Given the description of an element on the screen output the (x, y) to click on. 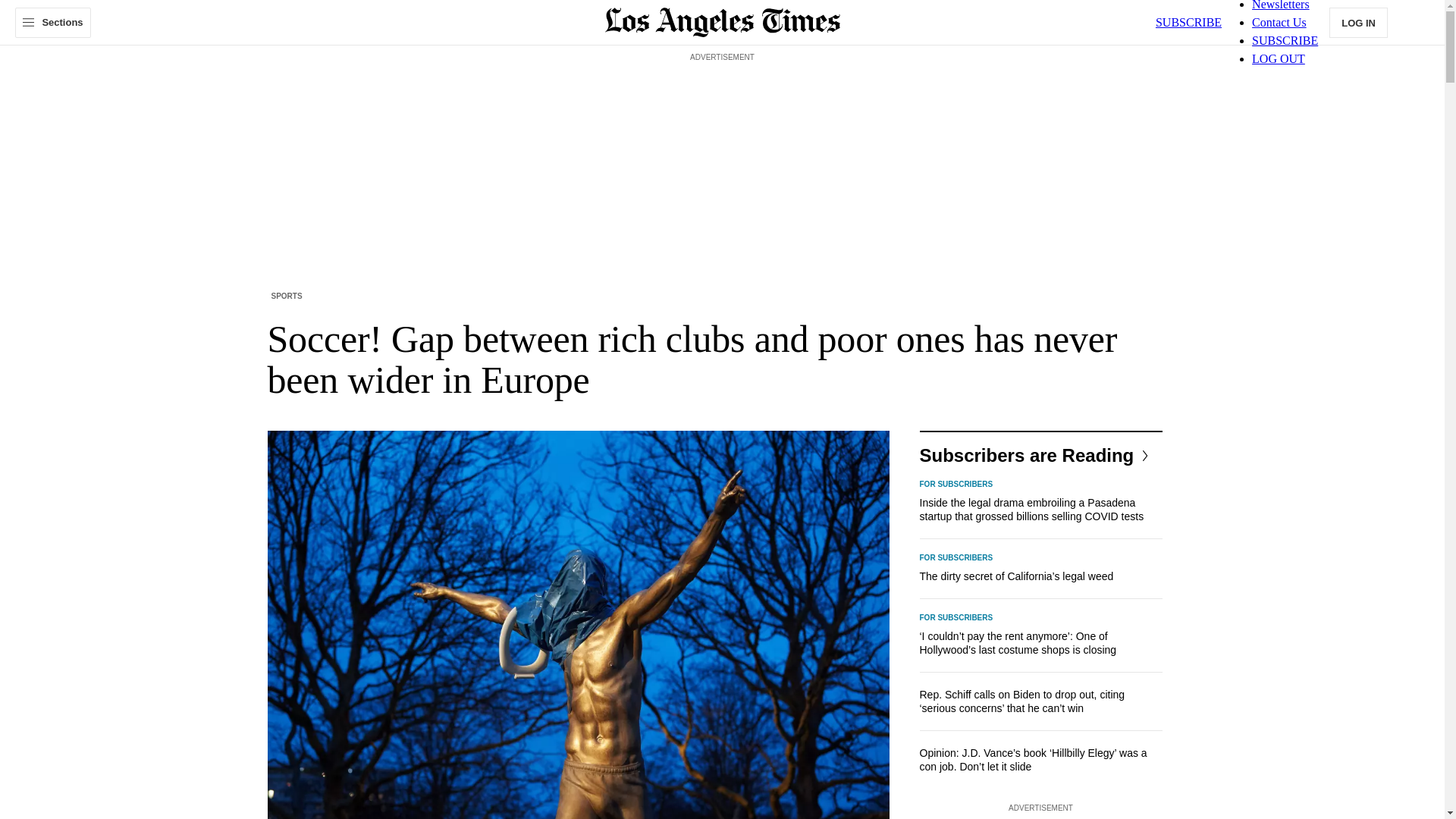
3rd party ad content (721, 100)
